Given the description of an element on the screen output the (x, y) to click on. 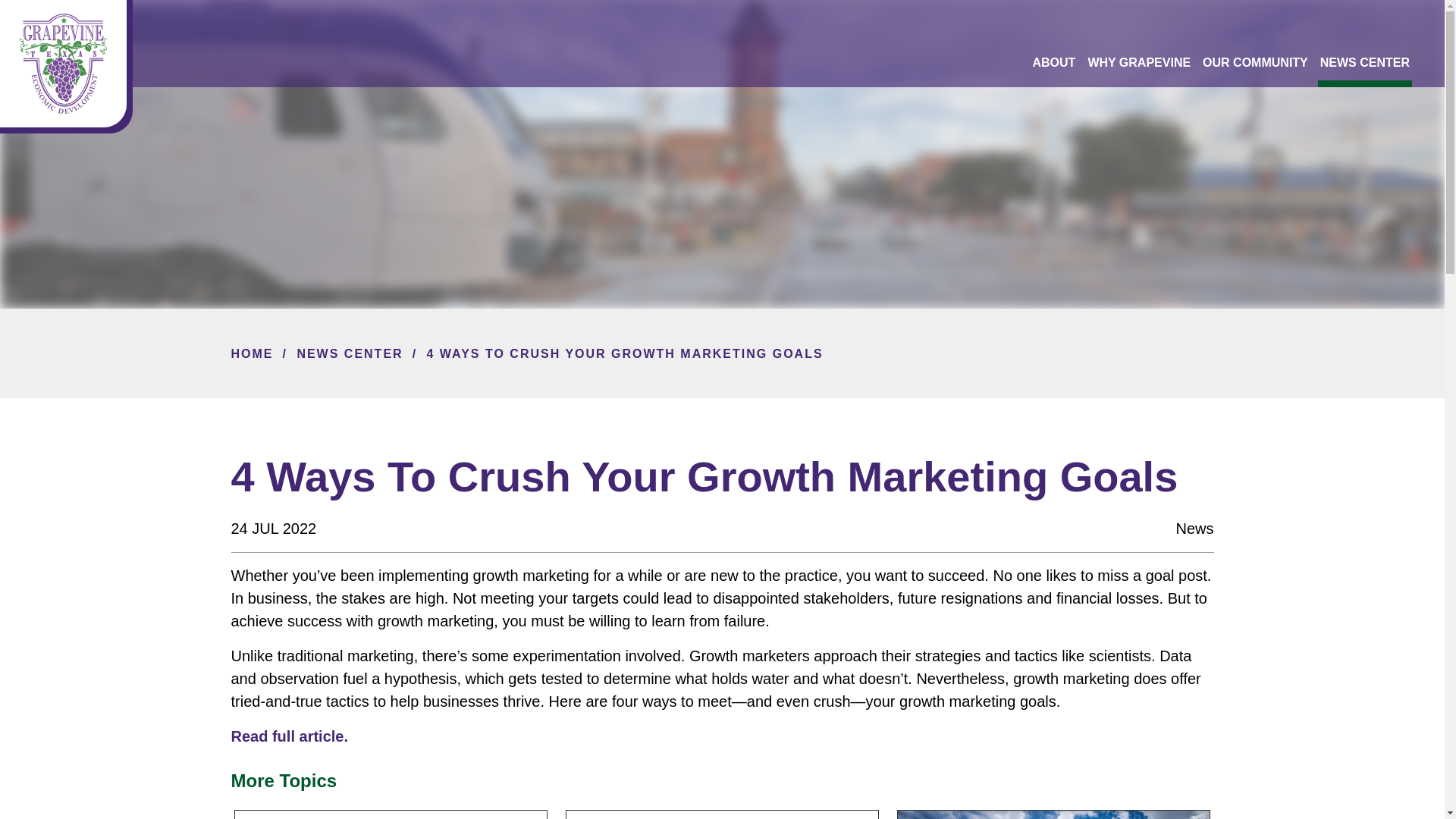
ABOUT (1053, 62)
OUR COMMUNITY (1255, 62)
WHY GRAPEVINE (1138, 62)
